Given the description of an element on the screen output the (x, y) to click on. 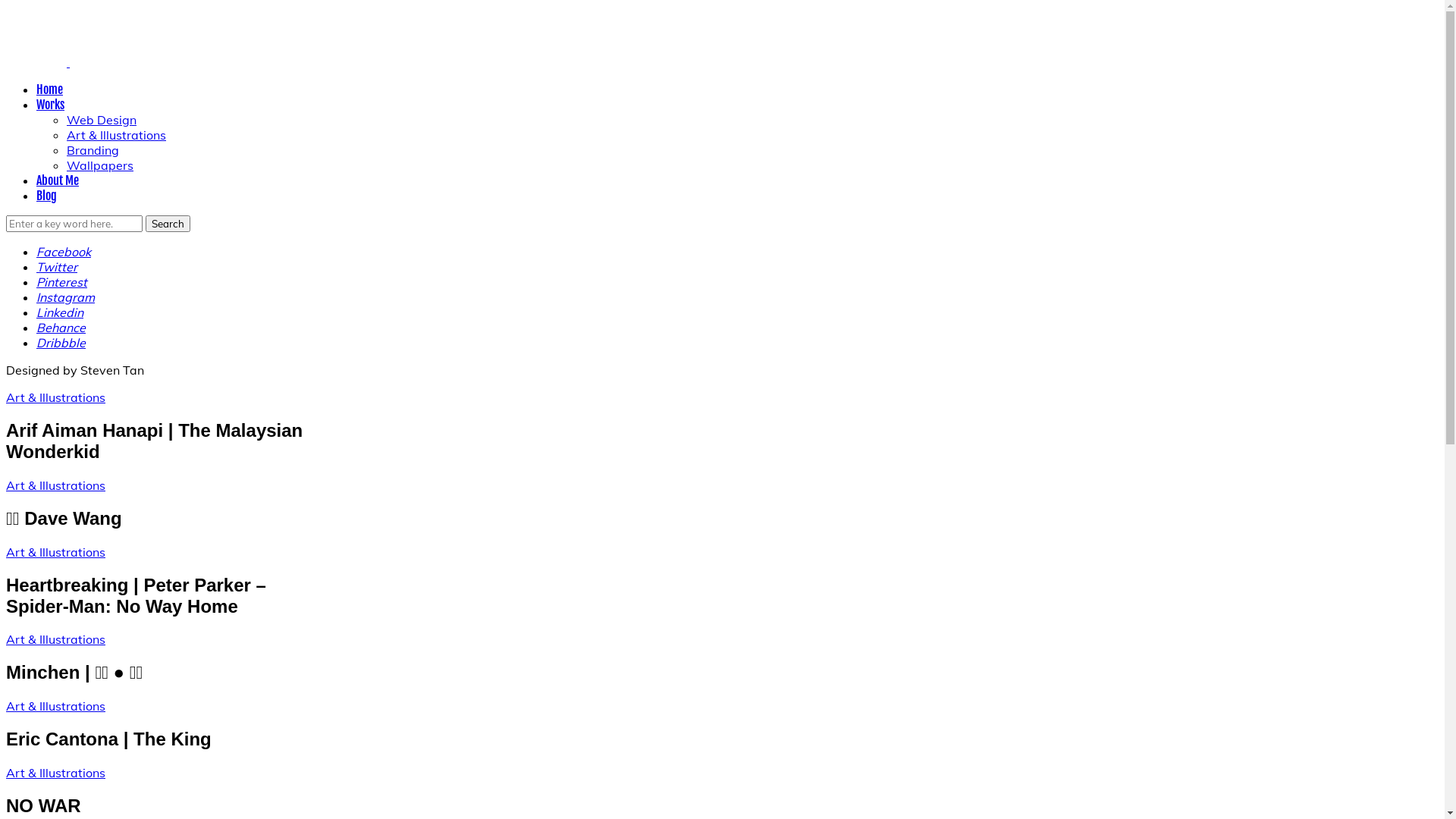
Pinterest Element type: text (61, 281)
Home Element type: text (49, 89)
Art & Illustrations Element type: text (55, 396)
Search Element type: text (167, 223)
Instagram Element type: text (65, 296)
Twitter Element type: text (56, 266)
Art & Illustrations Element type: text (55, 484)
Facebook Element type: text (63, 251)
Web Design Element type: text (101, 119)
Blog Element type: text (46, 195)
Art & Illustrations Element type: text (55, 772)
Behance Element type: text (60, 327)
About Me Element type: text (57, 180)
Dribbble Element type: text (60, 342)
Linkedin Element type: text (59, 312)
Works Element type: text (50, 104)
Wallpapers Element type: text (99, 164)
Art & Illustrations Element type: text (116, 134)
Art & Illustrations Element type: text (55, 638)
Art & Illustrations Element type: text (55, 551)
Branding Element type: text (92, 149)
Art & Illustrations Element type: text (55, 705)
